Given the description of an element on the screen output the (x, y) to click on. 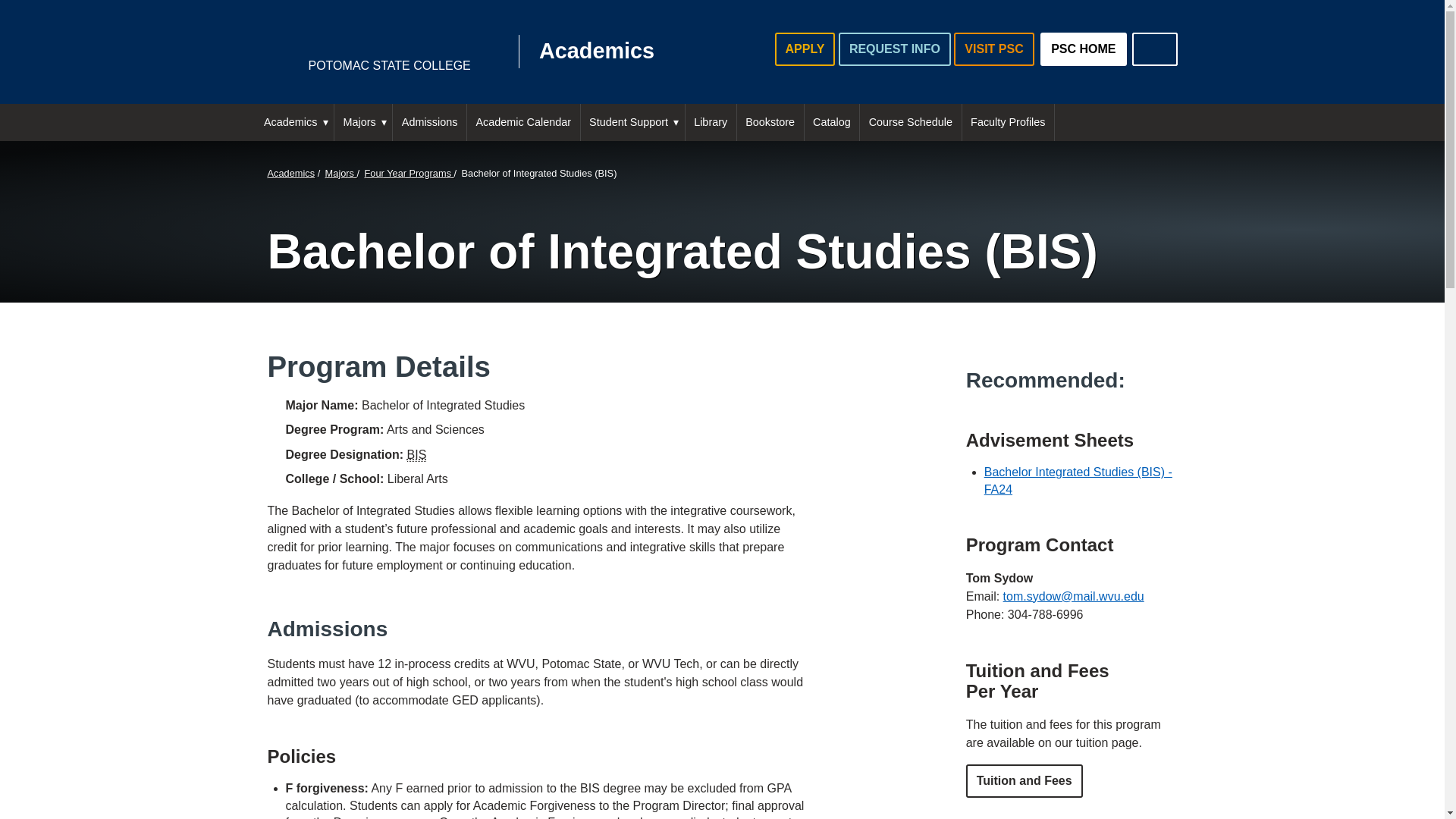
Catalog  (832, 122)
Potomac State College Library (710, 122)
Majors (362, 122)
Submit Search (1153, 49)
Bookstore  (507, 52)
Course Schedule  (769, 122)
Bachelor of Integrated Studies (910, 122)
Submit Search (416, 454)
Faculty Profiles (1153, 49)
Submit Search (1008, 122)
Student Support (1153, 49)
REQUEST INFO (632, 122)
VISIT PSC (894, 49)
Academics (993, 49)
